Given the description of an element on the screen output the (x, y) to click on. 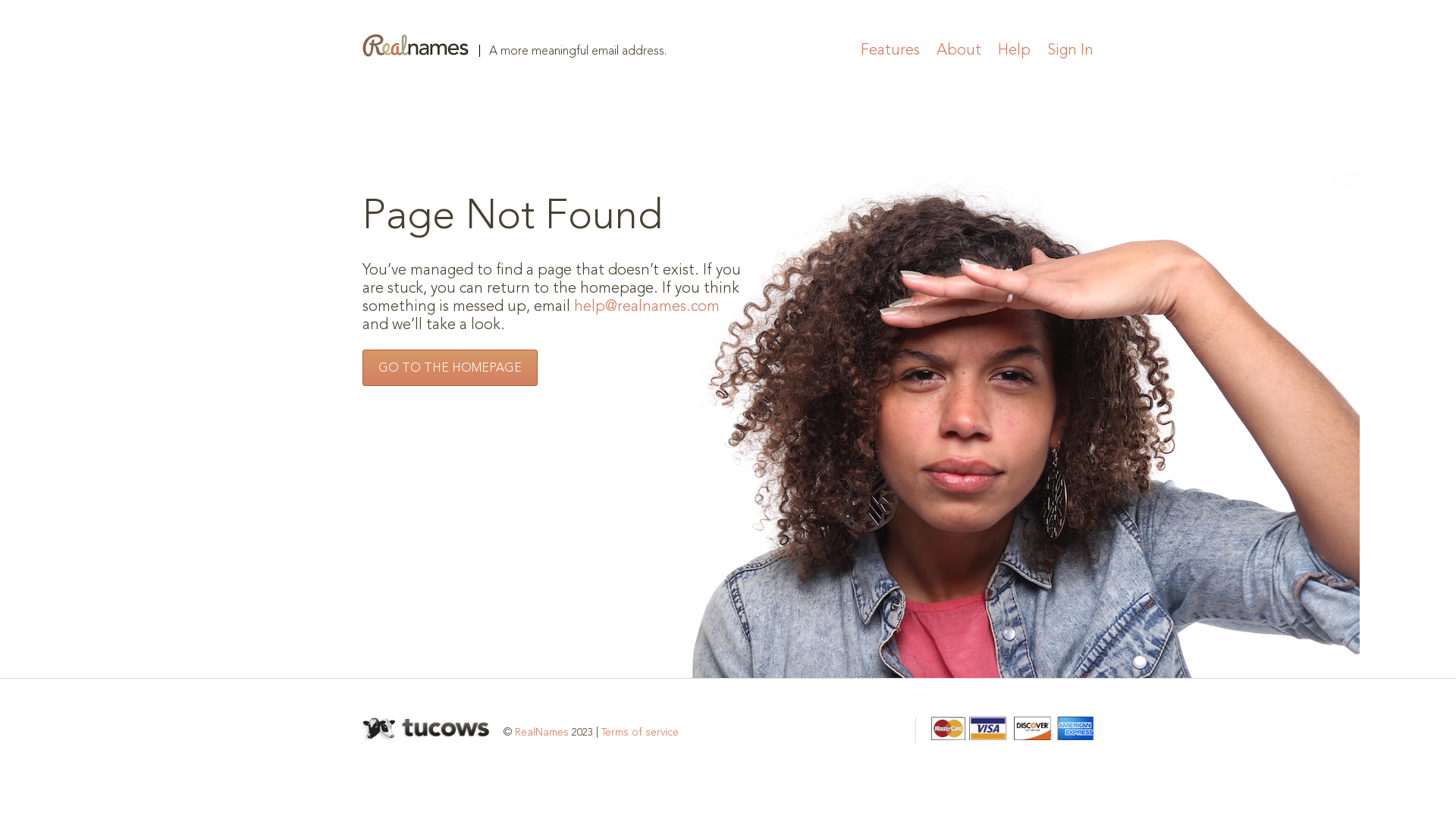
Features Element type: text (889, 50)
GO TO THE HOMEPAGE Element type: text (449, 367)
Terms of service Element type: text (639, 732)
RealNames Element type: text (541, 732)
Sign In Element type: text (1070, 50)
About Element type: text (958, 50)
Help Element type: text (1013, 50)
help@realnames.com Element type: text (646, 306)
